Given the description of an element on the screen output the (x, y) to click on. 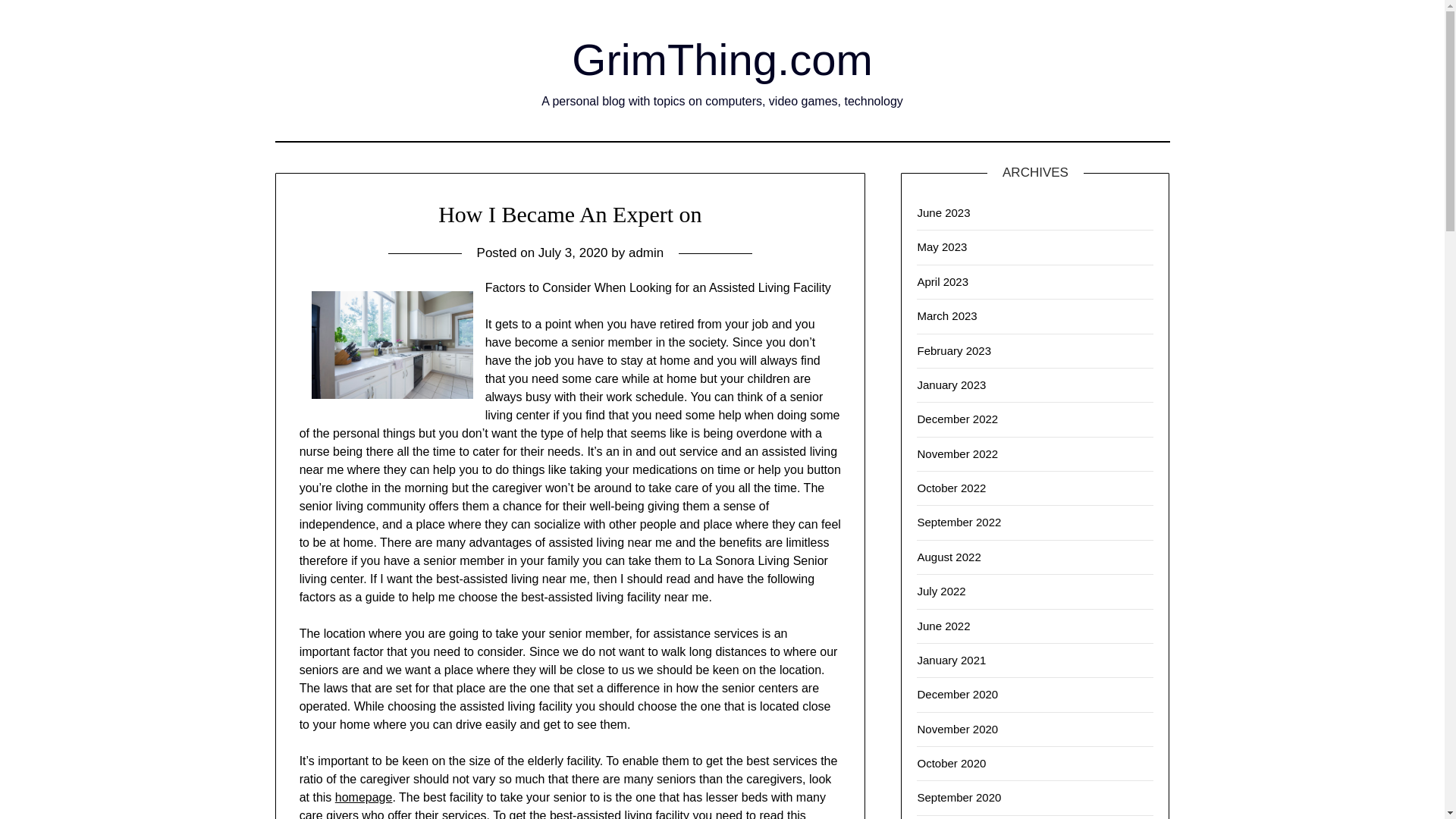
September 2020 (959, 797)
June 2022 (943, 625)
homepage (363, 797)
October 2022 (951, 487)
July 2022 (941, 590)
admin (645, 252)
January 2021 (951, 659)
April 2023 (942, 281)
GrimThing.com (722, 59)
February 2023 (954, 350)
June 2023 (943, 212)
March 2023 (946, 315)
November 2022 (957, 453)
July 3, 2020 (573, 252)
December 2022 (957, 418)
